Given the description of an element on the screen output the (x, y) to click on. 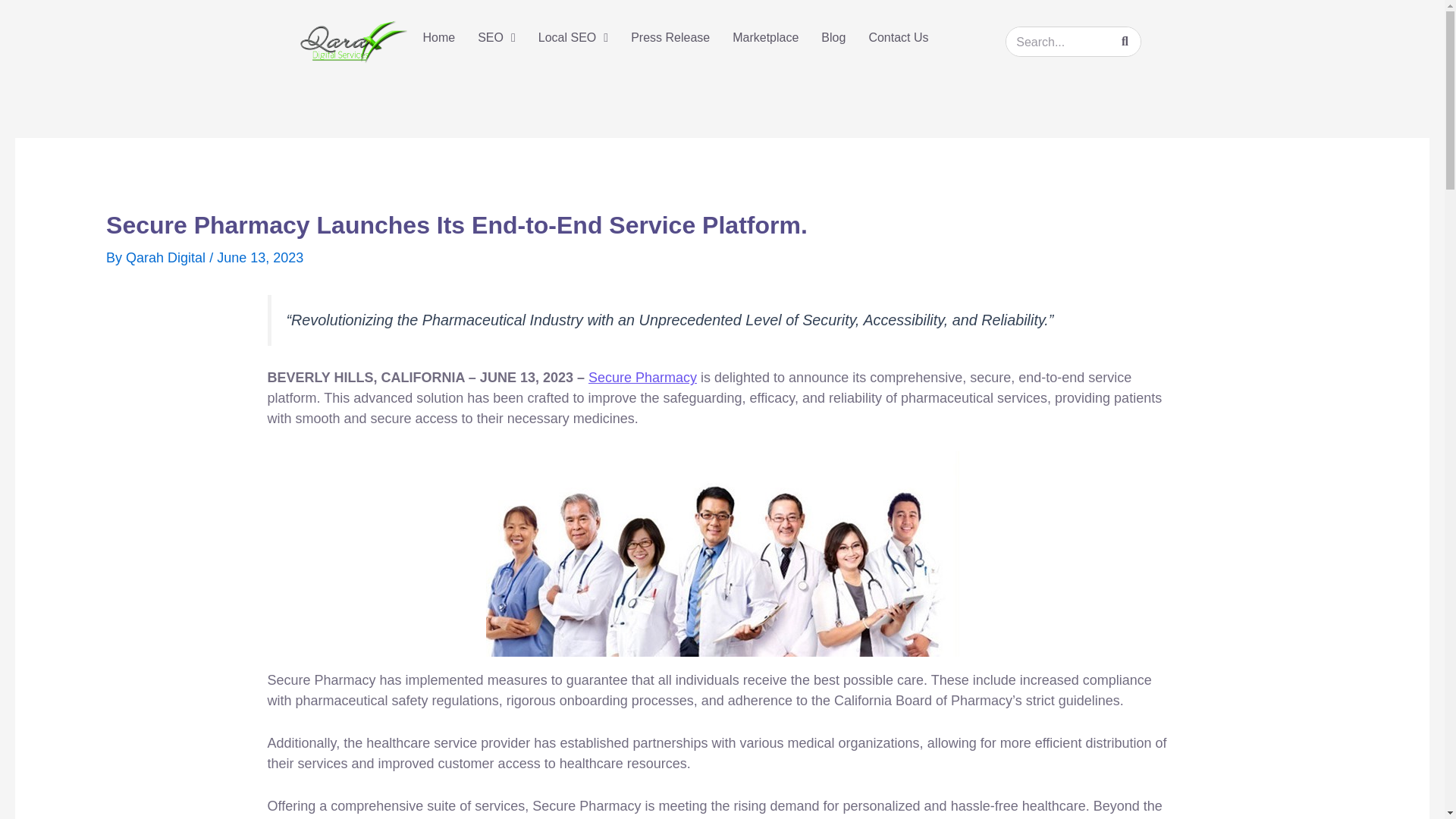
Press Release (670, 38)
Qarah Digital (167, 257)
Secure Pharmacy (642, 377)
Local SEO (573, 38)
Search (1124, 41)
View all posts by Qarah Digital (167, 257)
